Given the description of an element on the screen output the (x, y) to click on. 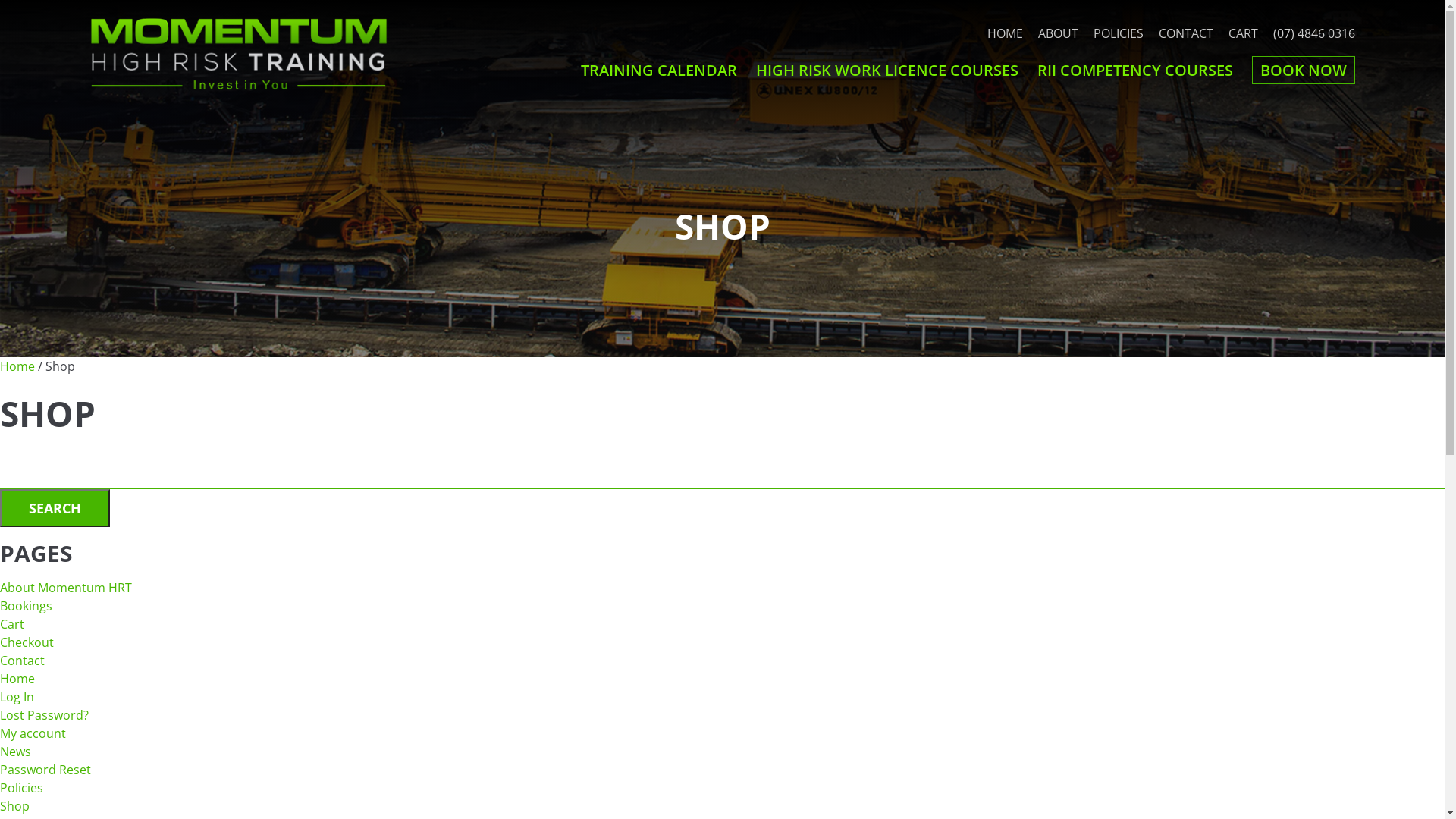
CONTACT Element type: text (1185, 33)
Bookings Element type: text (26, 605)
Password Reset Element type: text (45, 769)
BOOK NOW Element type: text (1303, 70)
TRAINING CALENDAR Element type: text (658, 69)
(07) 4846 0316 Element type: text (1314, 33)
POLICIES Element type: text (1118, 33)
HIGH RISK WORK LICENCE COURSES Element type: text (887, 69)
News Element type: text (15, 751)
Log In Element type: text (17, 696)
My account Element type: text (32, 732)
Lost Password? Element type: text (44, 714)
Policies Element type: text (21, 787)
Home Element type: text (17, 678)
HOME Element type: text (1004, 33)
Search Element type: text (54, 508)
Cart Element type: text (12, 623)
CART Element type: text (1243, 33)
About Momentum HRT Element type: text (65, 587)
Shop Element type: text (14, 805)
Checkout Element type: text (26, 641)
RII COMPETENCY COURSES Element type: text (1135, 69)
ABOUT Element type: text (1058, 33)
Contact Element type: text (22, 660)
Home Element type: text (17, 365)
